Given the description of an element on the screen output the (x, y) to click on. 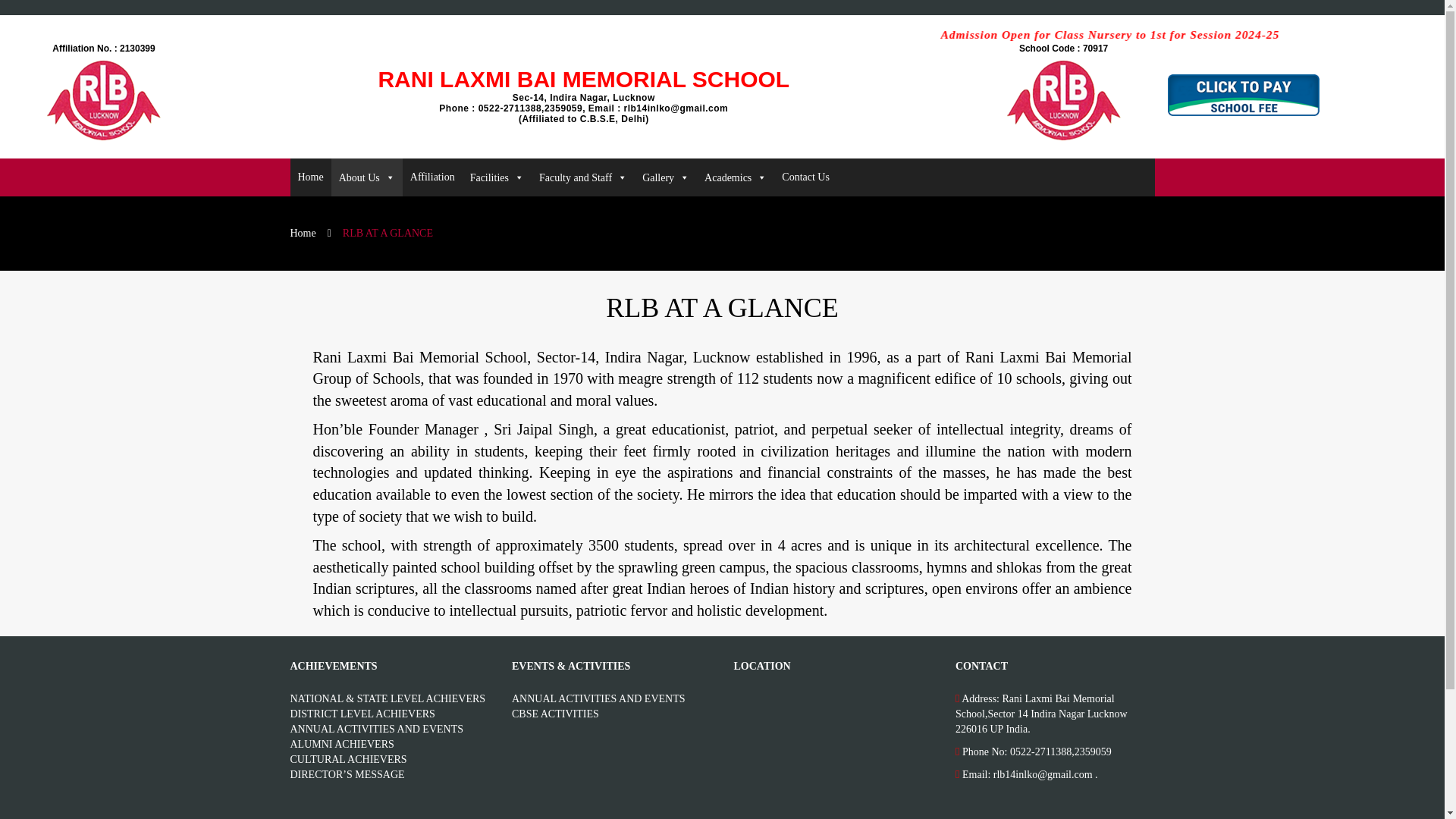
Affiliation (433, 177)
About Us (367, 177)
Faculty and Staff (582, 177)
Home (309, 177)
Academics (735, 177)
Facilities (497, 177)
Gallery (665, 177)
